Given the description of an element on the screen output the (x, y) to click on. 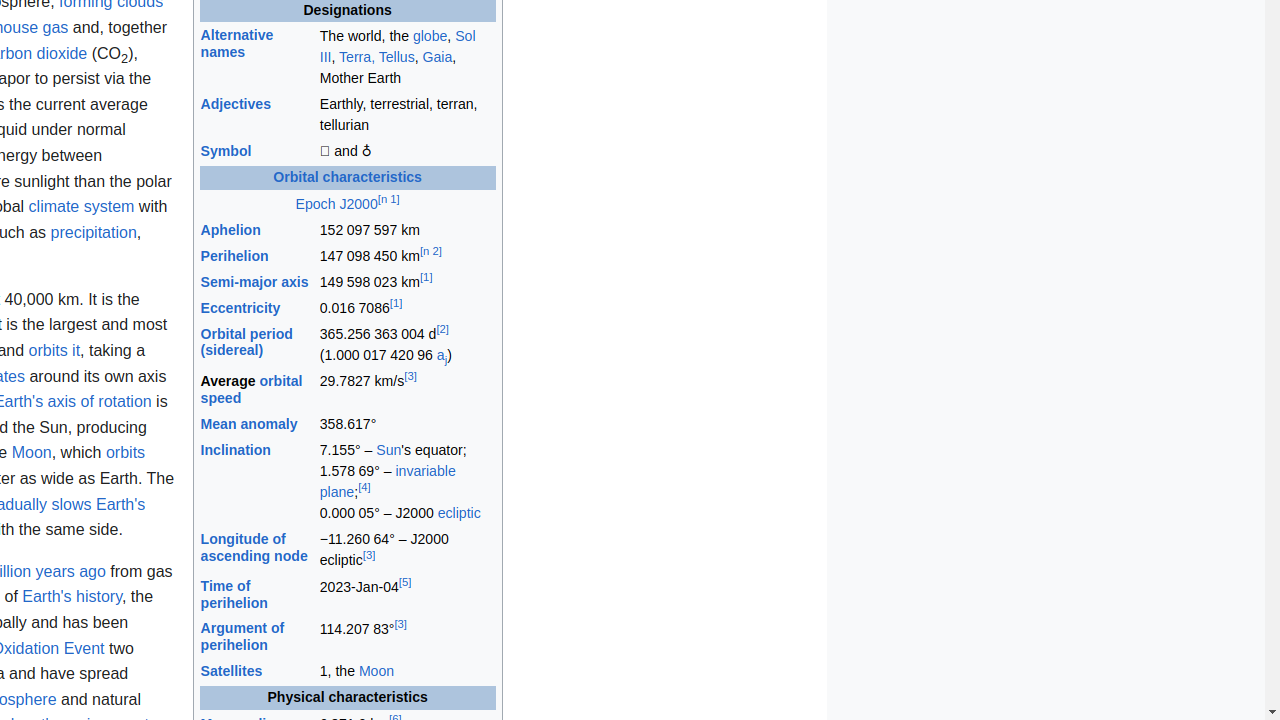
[n 2] Element type: link (430, 251)
2023-Jan-04[5] Element type: table-cell (407, 595)
orbits it Element type: link (54, 351)
Orbital period (sidereal) Element type: link (246, 342)
149598023 km[1] Element type: table-cell (407, 282)
